Given the description of an element on the screen output the (x, y) to click on. 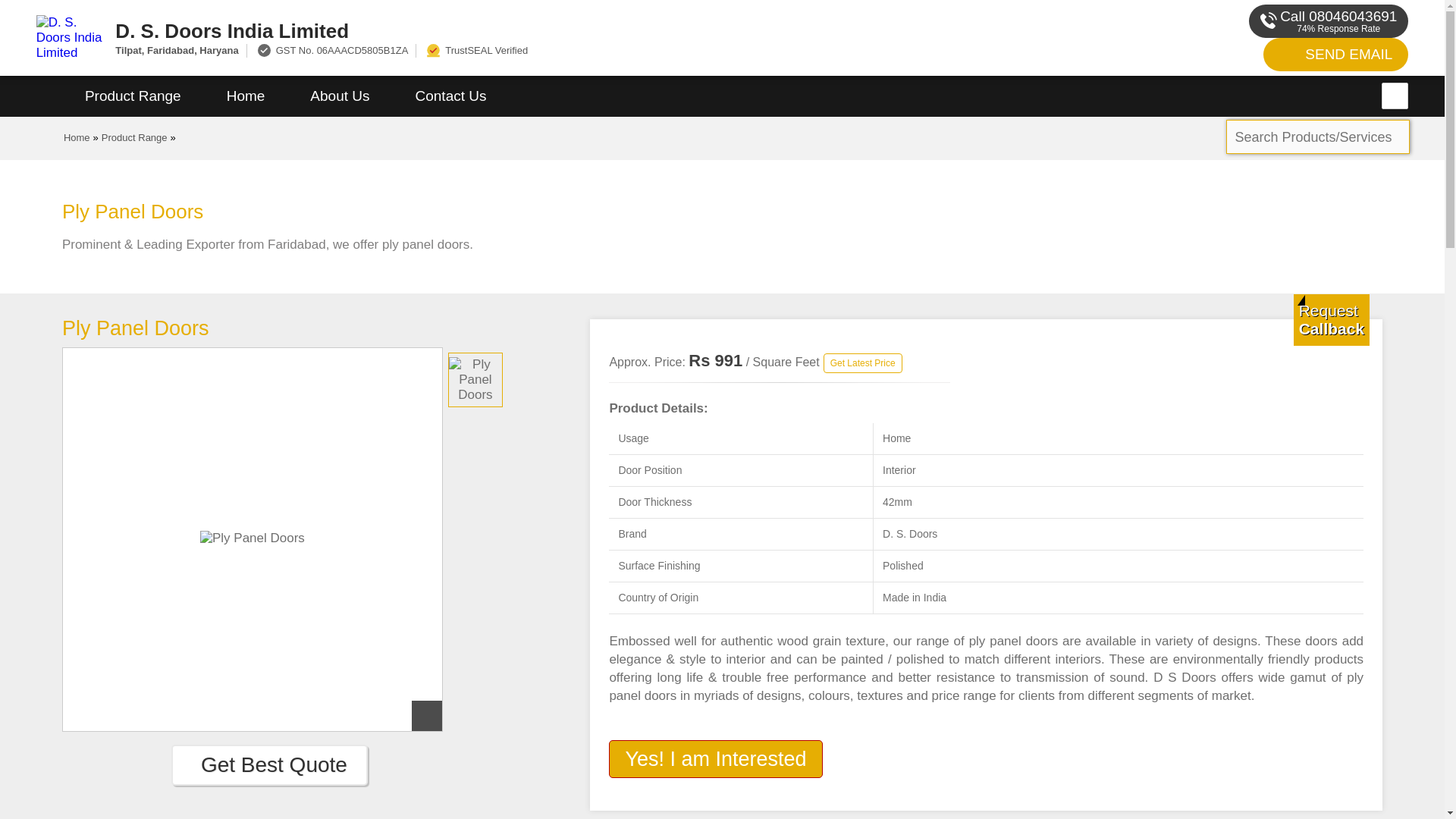
Get a Call from us (1332, 319)
D. S. Doors India Limited (552, 31)
Home (245, 96)
Product Range (132, 96)
About Us (338, 96)
